Given the description of an element on the screen output the (x, y) to click on. 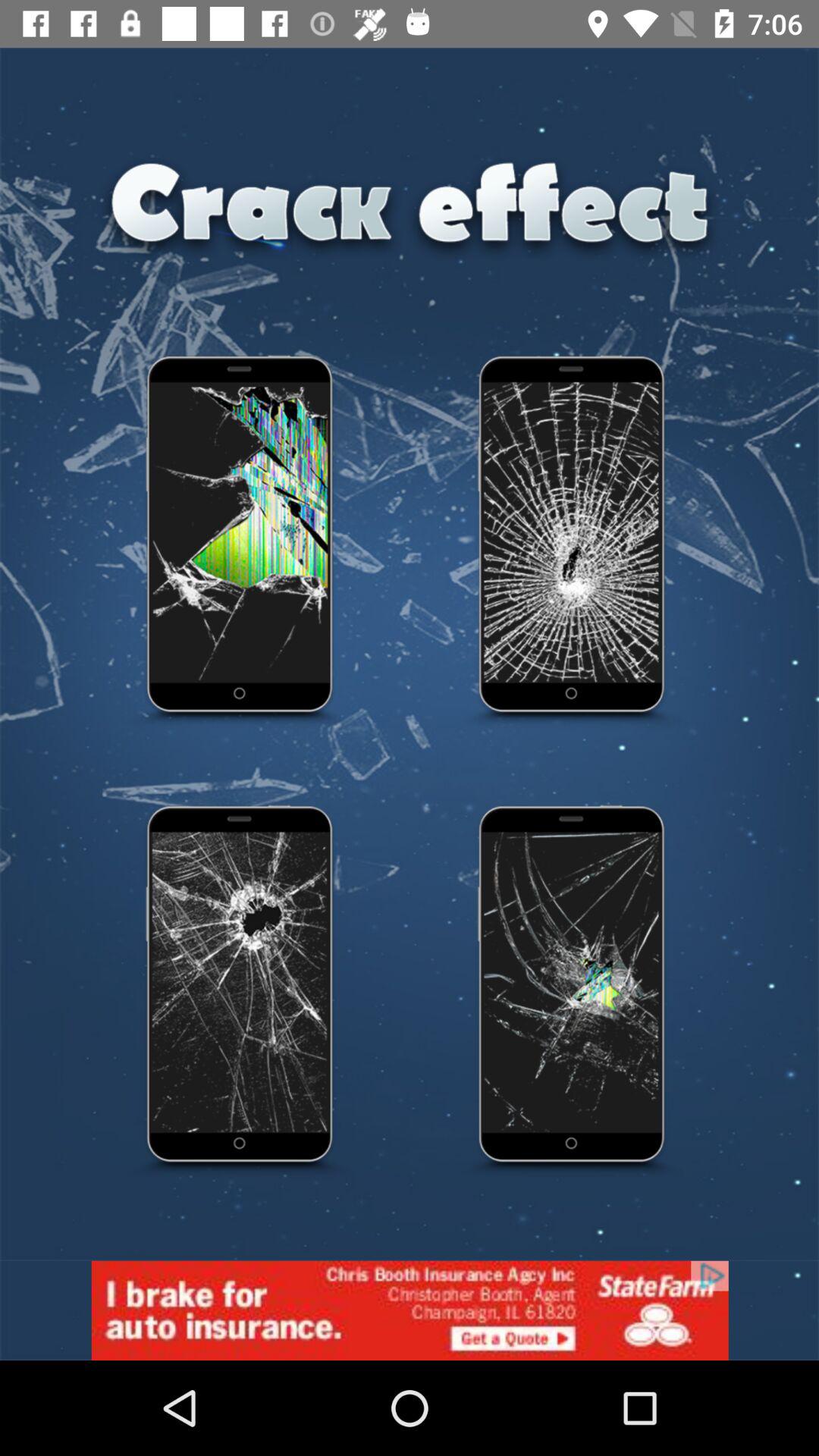
select this crack effect (240, 992)
